Given the description of an element on the screen output the (x, y) to click on. 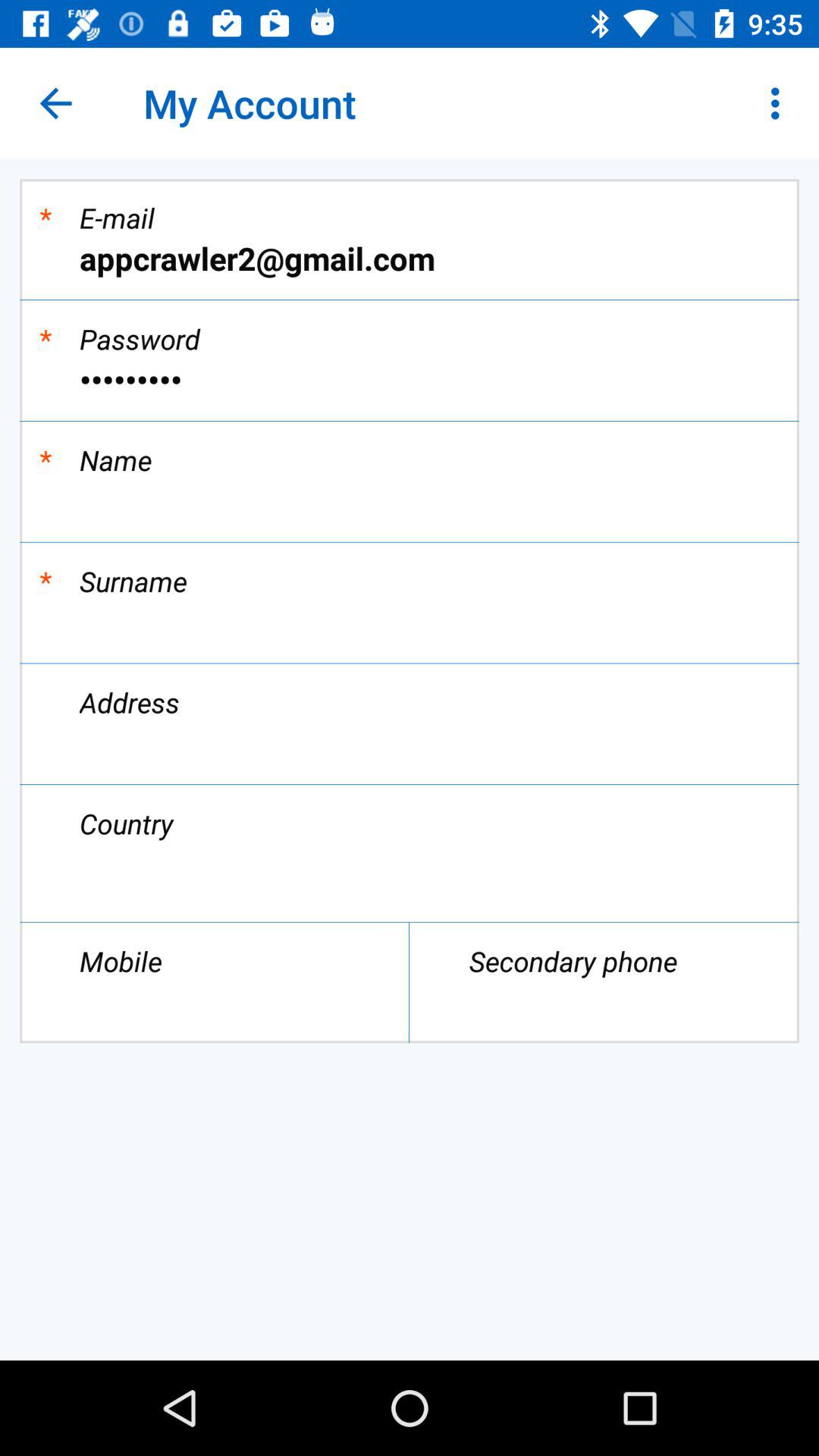
click the icon to the left of my account icon (55, 103)
